Given the description of an element on the screen output the (x, y) to click on. 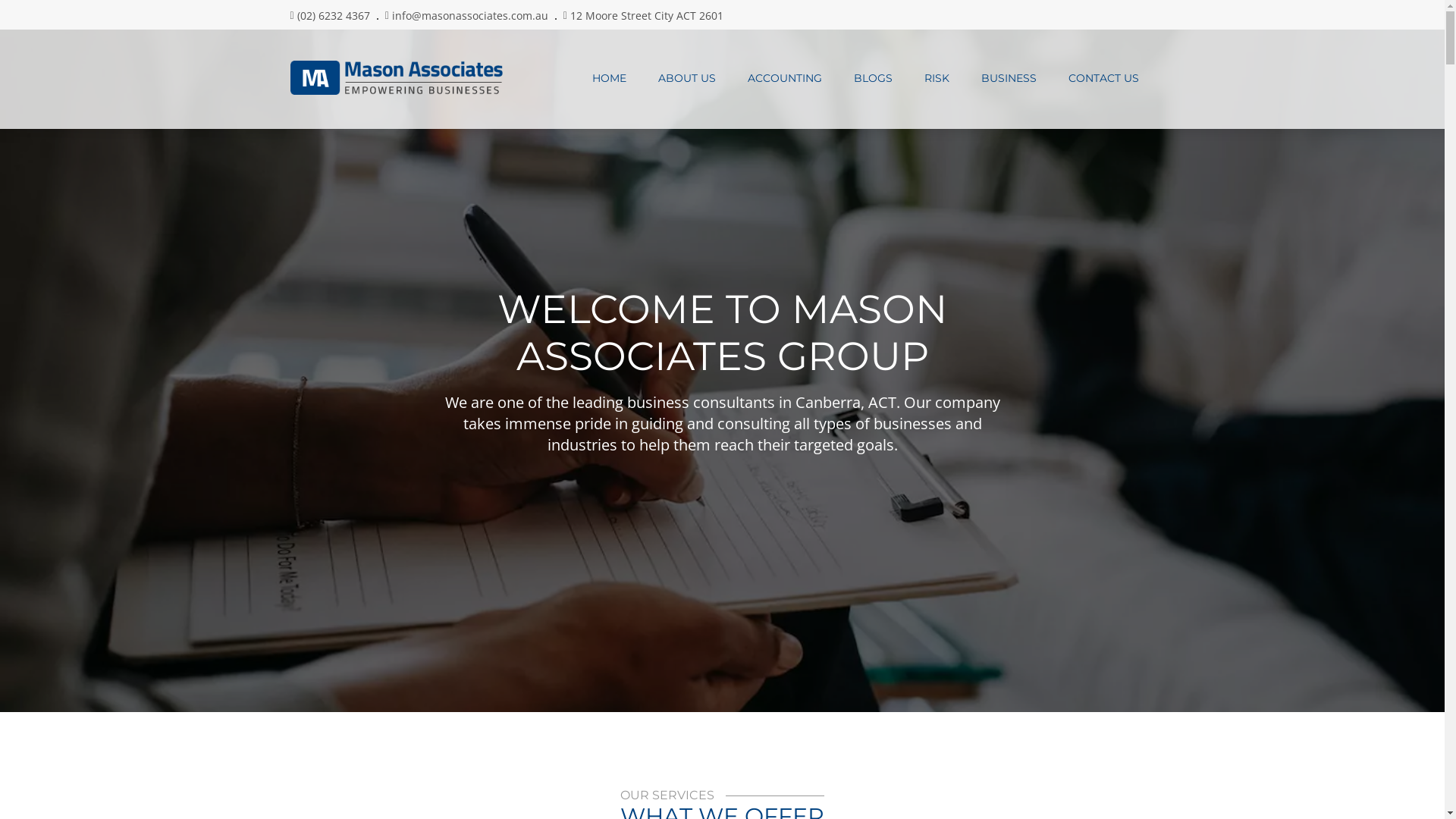
BUSINESS Element type: text (1007, 77)
ACCOUNTING Element type: text (784, 77)
BLOGS Element type: text (872, 77)
HOME Element type: text (609, 77)
ABOUT US Element type: text (686, 77)
info@masonassociates.com.au Element type: text (470, 15)
CONTACT US Element type: text (1103, 77)
RISK Element type: text (936, 77)
